Given the description of an element on the screen output the (x, y) to click on. 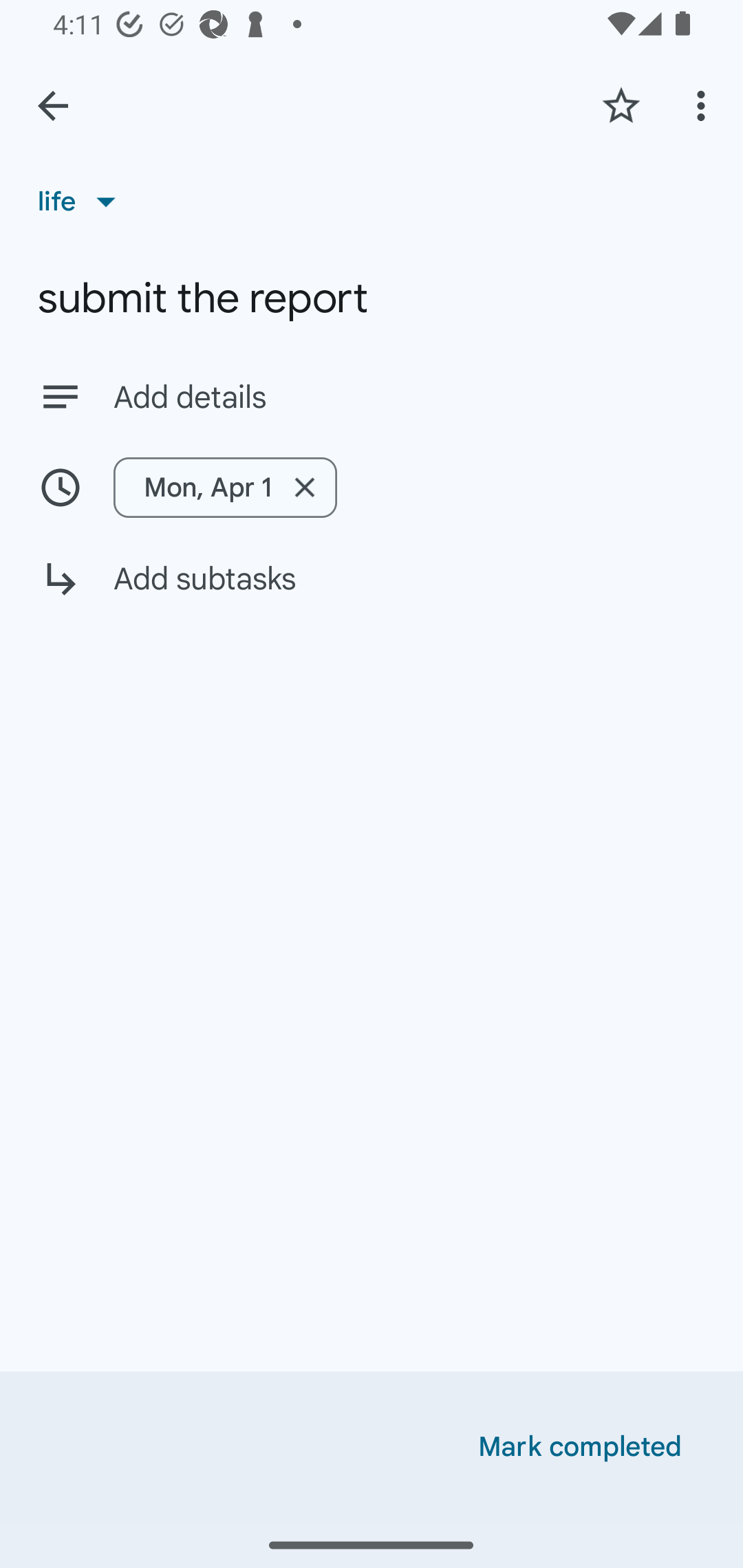
Back (53, 105)
Add star (620, 105)
More options (704, 105)
life List, life selected, 1 of 23 (82, 201)
submit the report (371, 298)
Add details (371, 396)
Add details (409, 397)
Mon, Apr 1 Remove date/time (371, 487)
Mon, Apr 1 Remove date/time (225, 487)
Add subtasks (371, 593)
Mark completed (580, 1446)
